Given the description of an element on the screen output the (x, y) to click on. 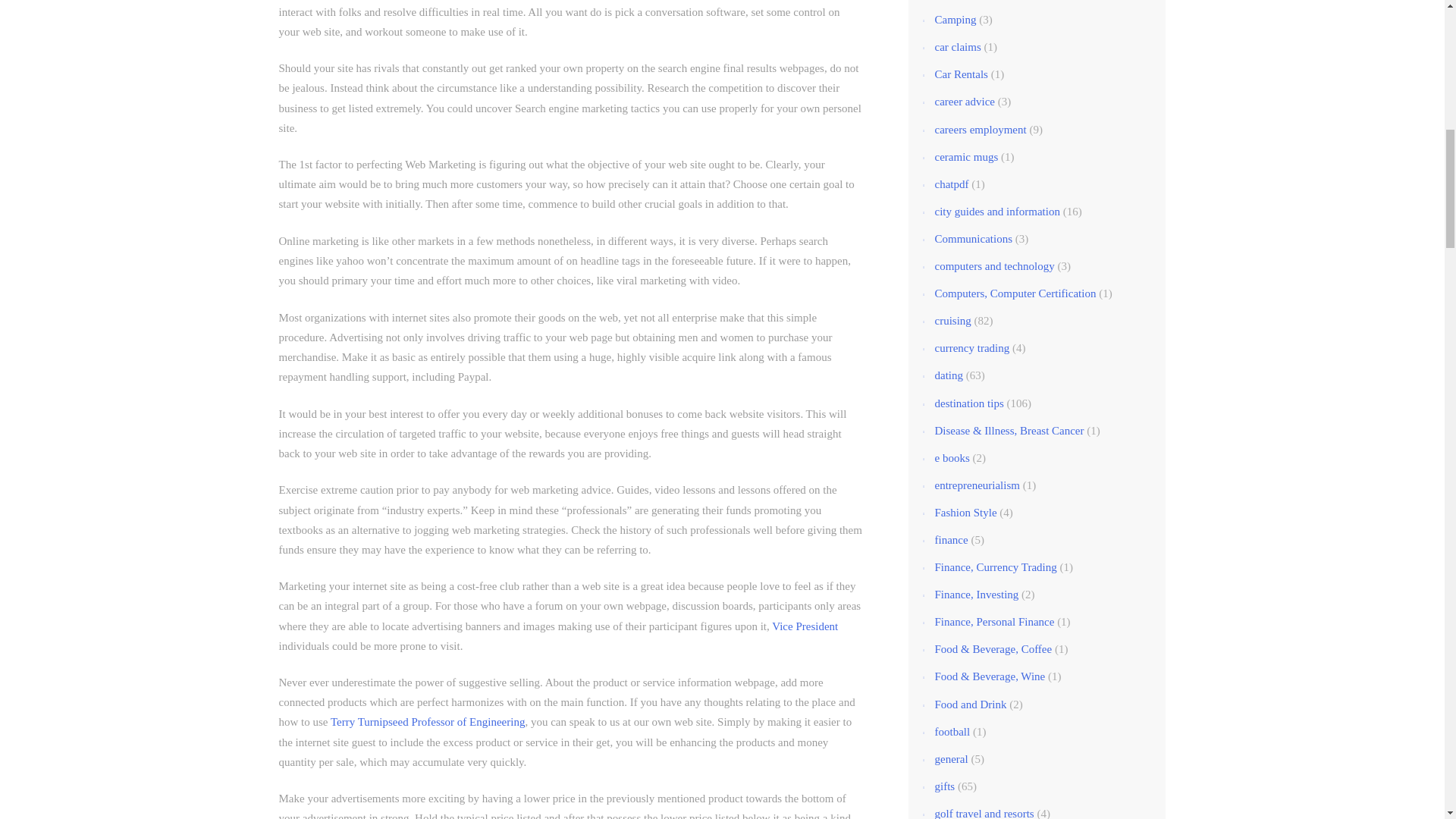
Vice President (804, 625)
Terry Turnipseed Professor of Engineering (427, 721)
